Given the description of an element on the screen output the (x, y) to click on. 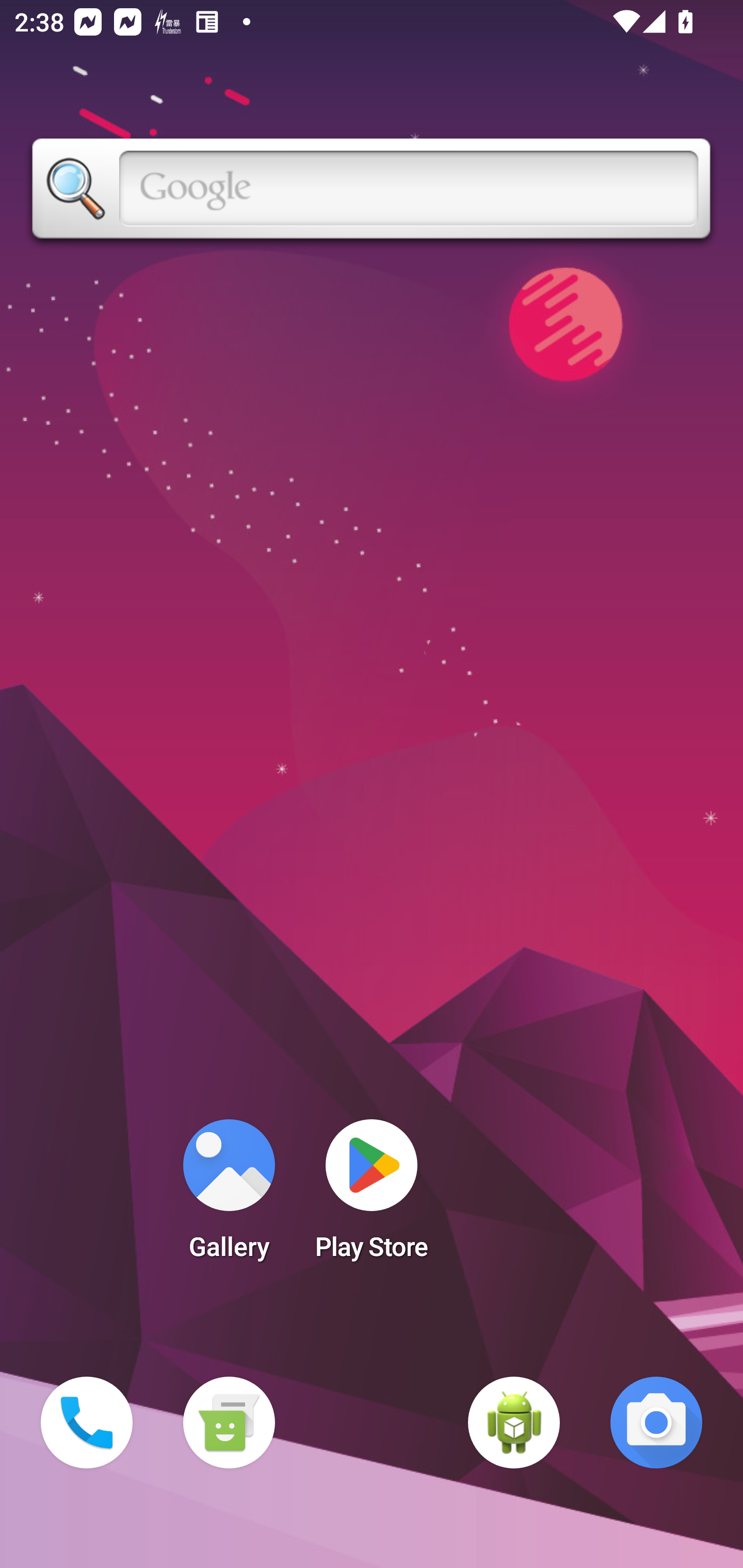
Gallery (228, 1195)
Play Store (371, 1195)
Phone (86, 1422)
Messaging (228, 1422)
WebView Browser Tester (513, 1422)
Camera (656, 1422)
